Given the description of an element on the screen output the (x, y) to click on. 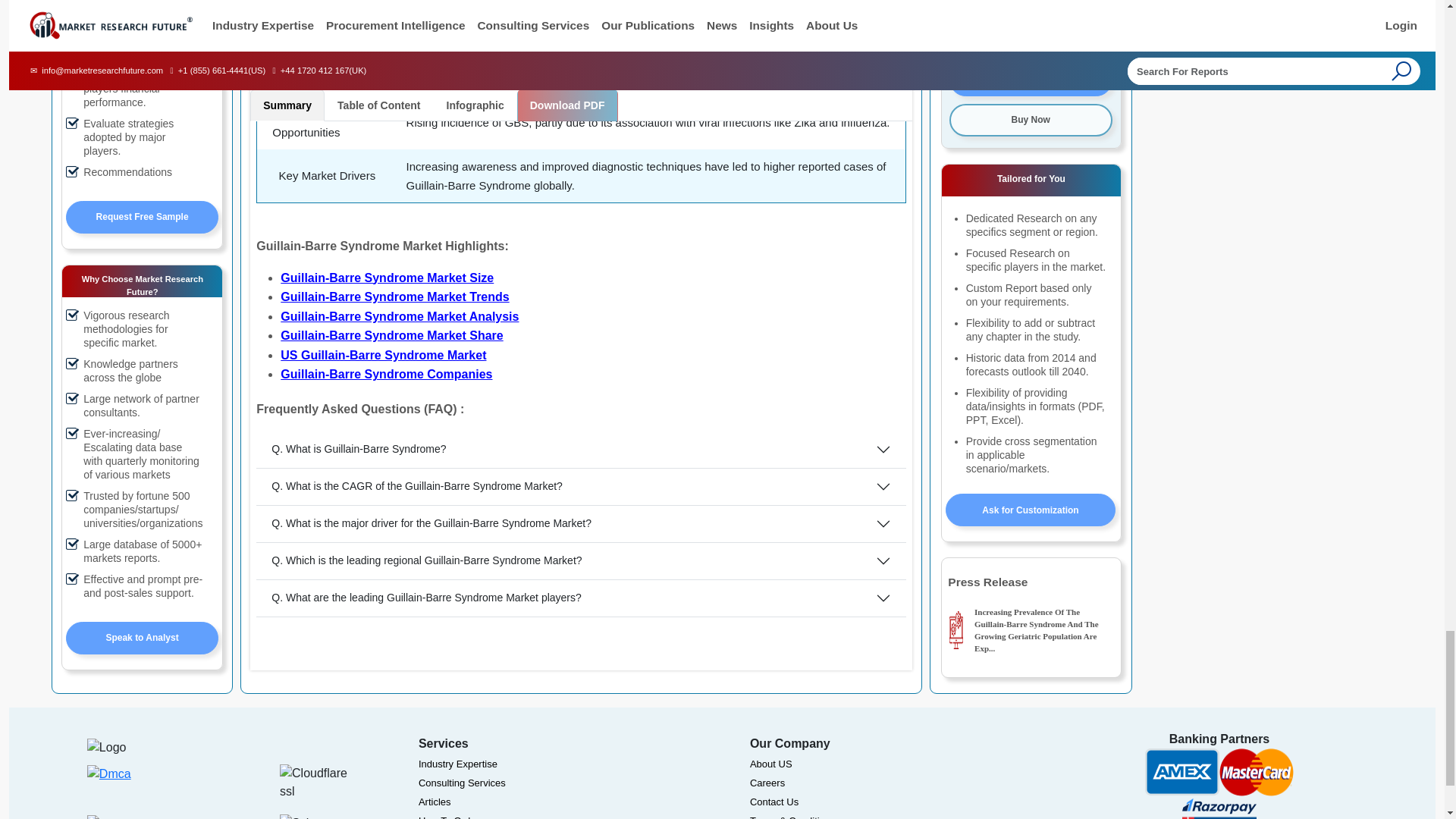
How PayPal Works (128, 816)
DMCA.com Protection Status (109, 785)
